Given the description of an element on the screen output the (x, y) to click on. 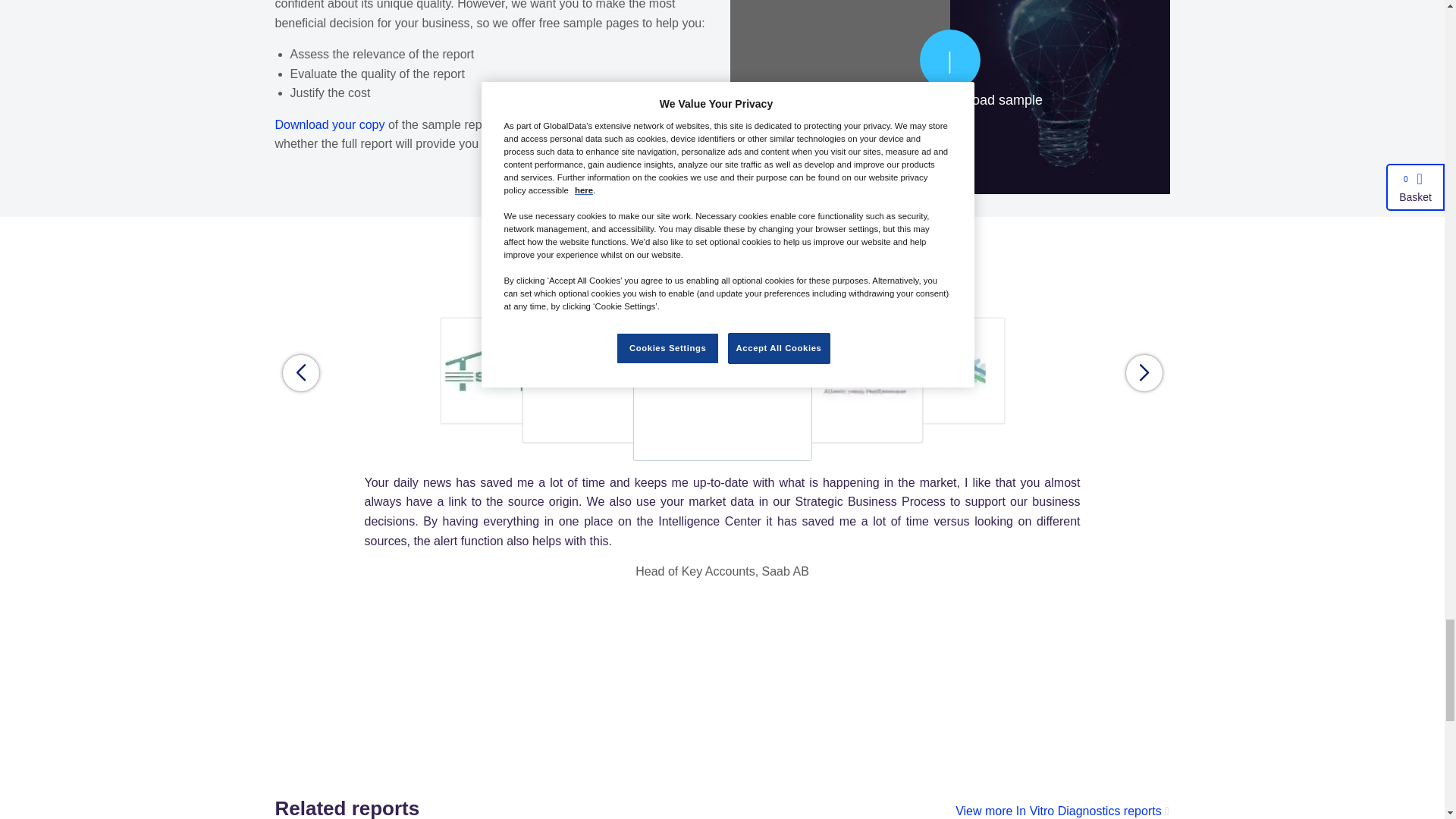
download (329, 124)
download (949, 69)
